Given the description of an element on the screen output the (x, y) to click on. 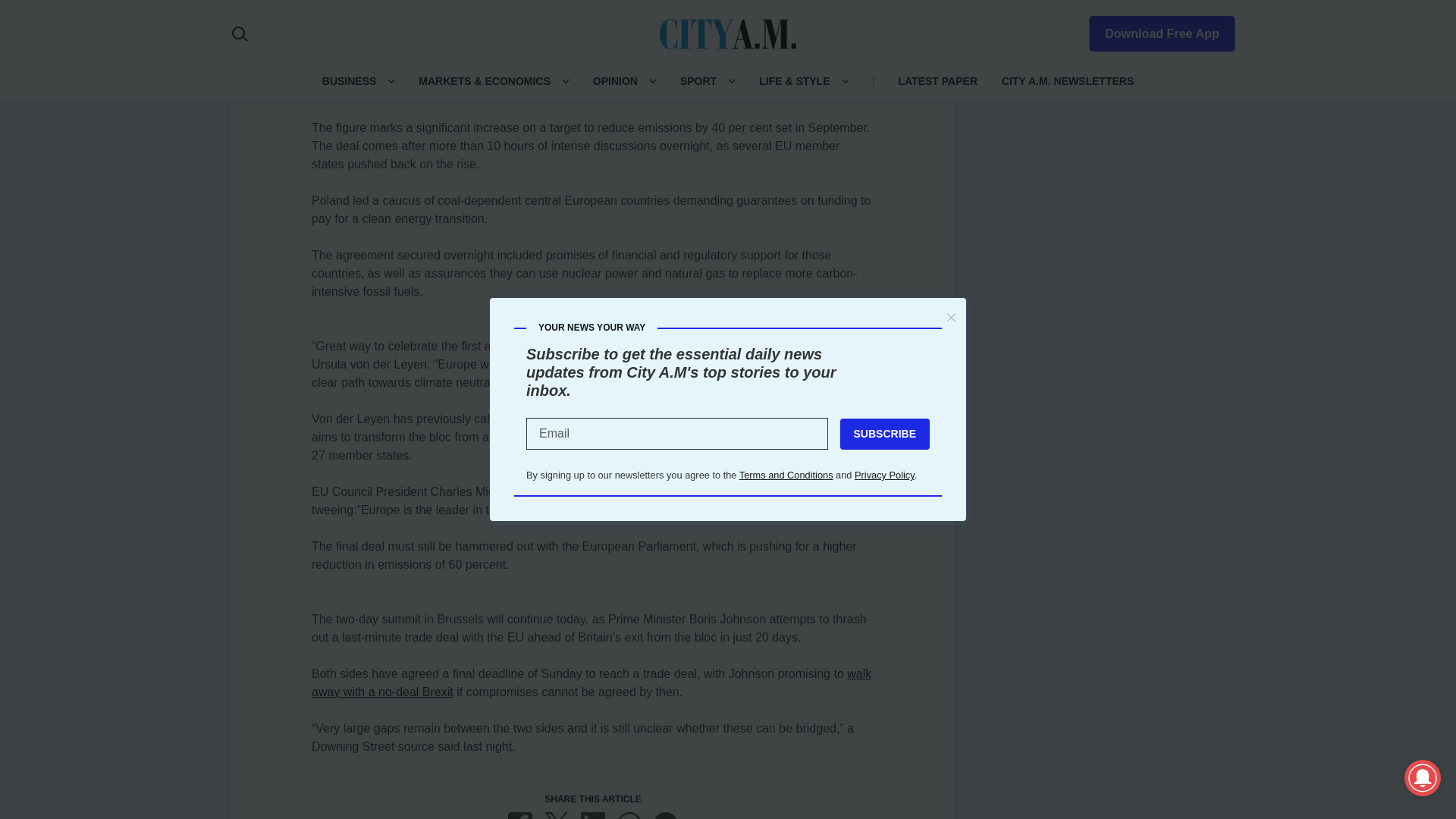
Facebook (520, 815)
X (556, 815)
Email (665, 815)
WhatsApp (629, 815)
LinkedIn (592, 815)
